Given the description of an element on the screen output the (x, y) to click on. 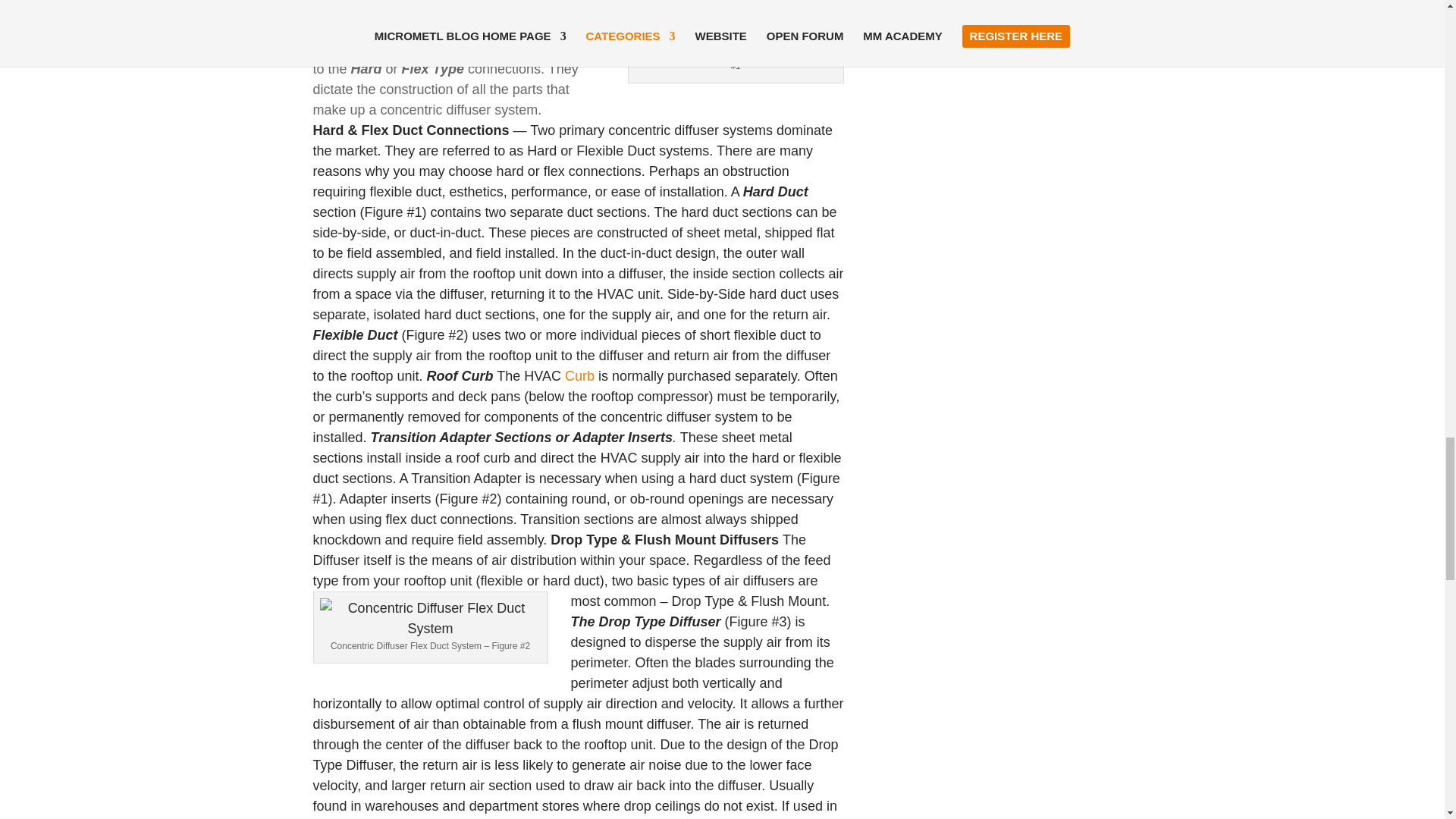
Common Rooftop Curb Types Defined (581, 376)
Curb (581, 376)
